Given the description of an element on the screen output the (x, y) to click on. 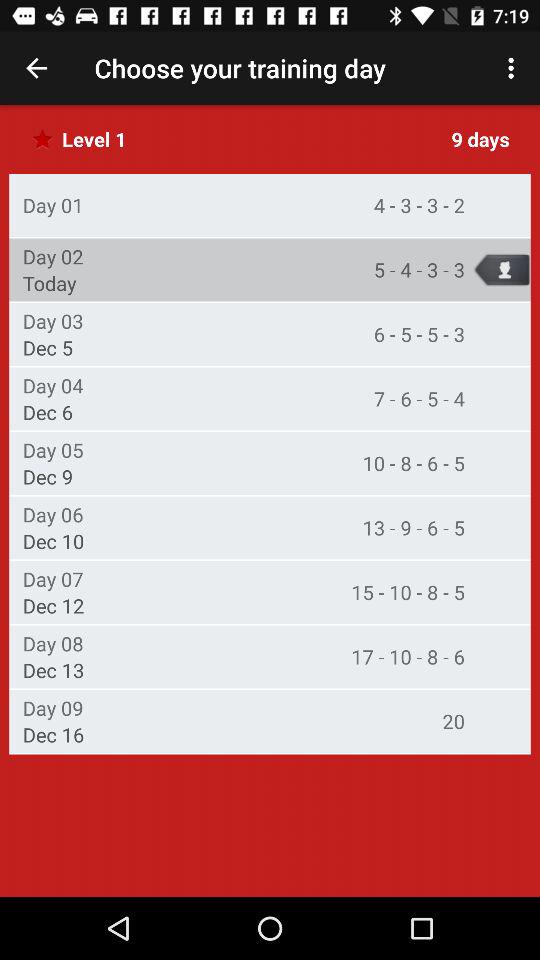
open the item to the left of choose your training item (36, 68)
